Given the description of an element on the screen output the (x, y) to click on. 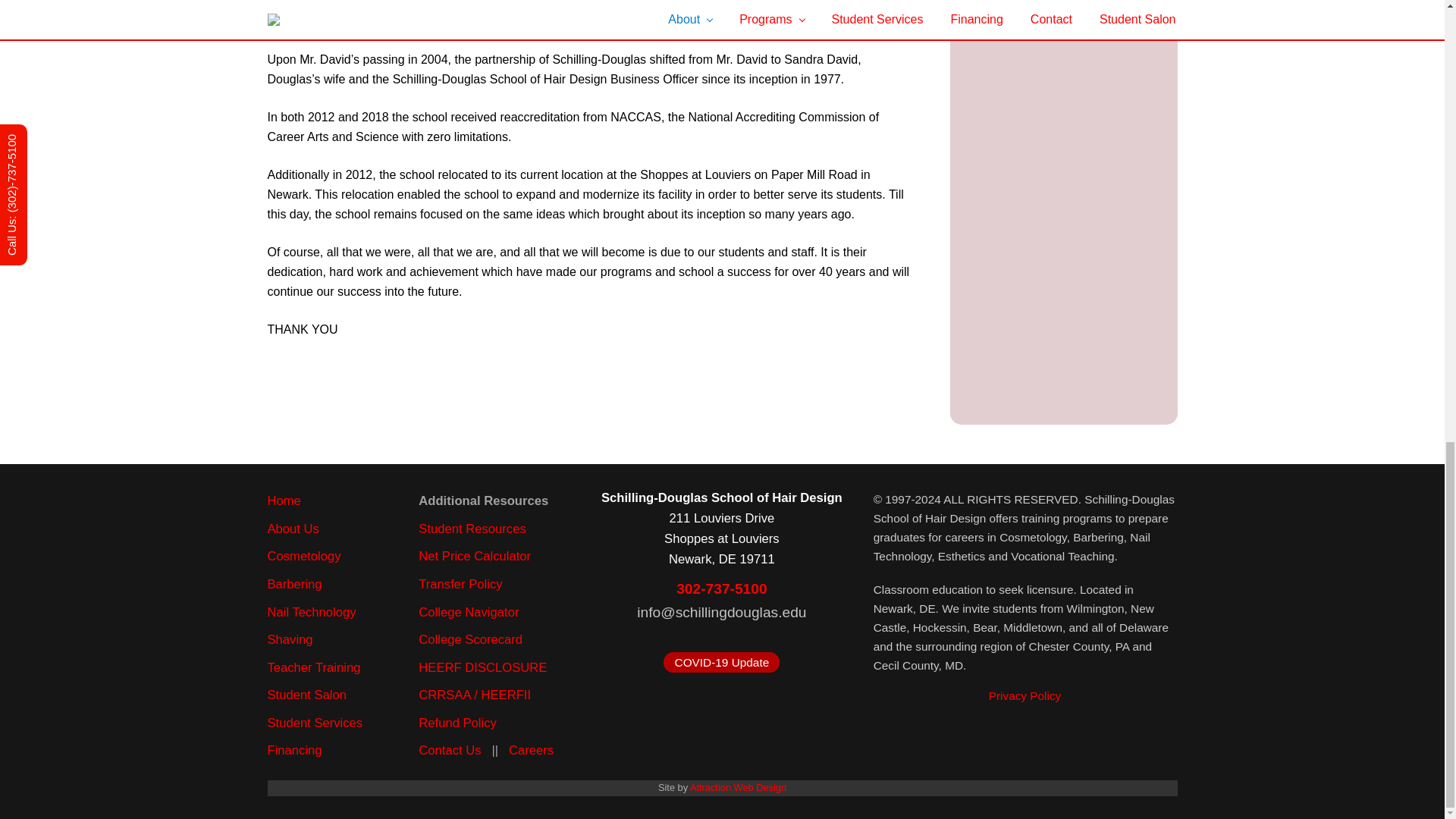
Financing (293, 749)
Student Salon (306, 694)
Cosmetology Program (303, 555)
Student Services (314, 722)
Careers at Schilling-Douglas (530, 749)
Contact Us (449, 749)
Shaving Program (289, 639)
Nail Technology Program (310, 611)
About Us (292, 528)
Barbering Program (293, 584)
